Given the description of an element on the screen output the (x, y) to click on. 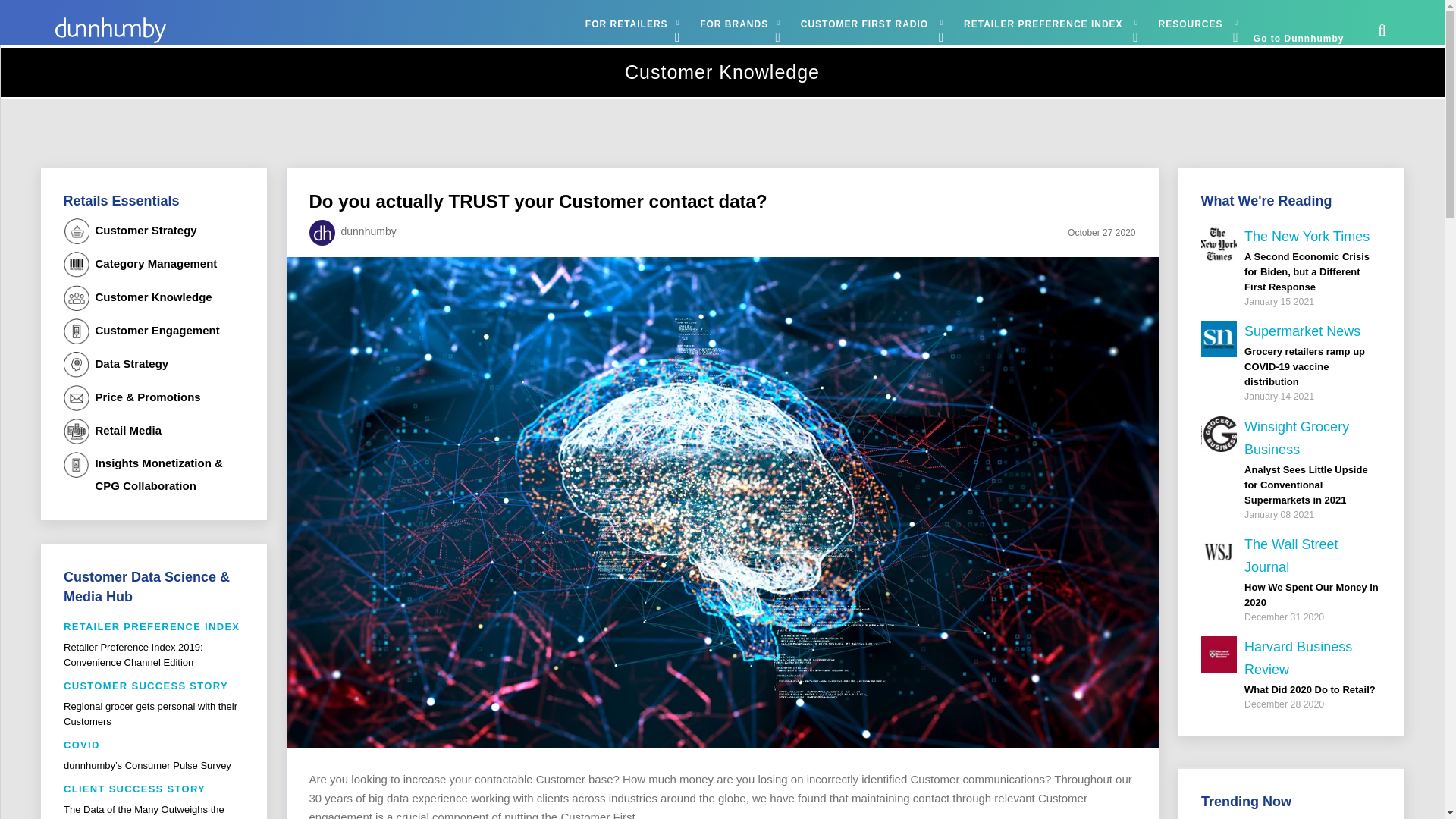
FOR RETAILERS (629, 24)
